Given the description of an element on the screen output the (x, y) to click on. 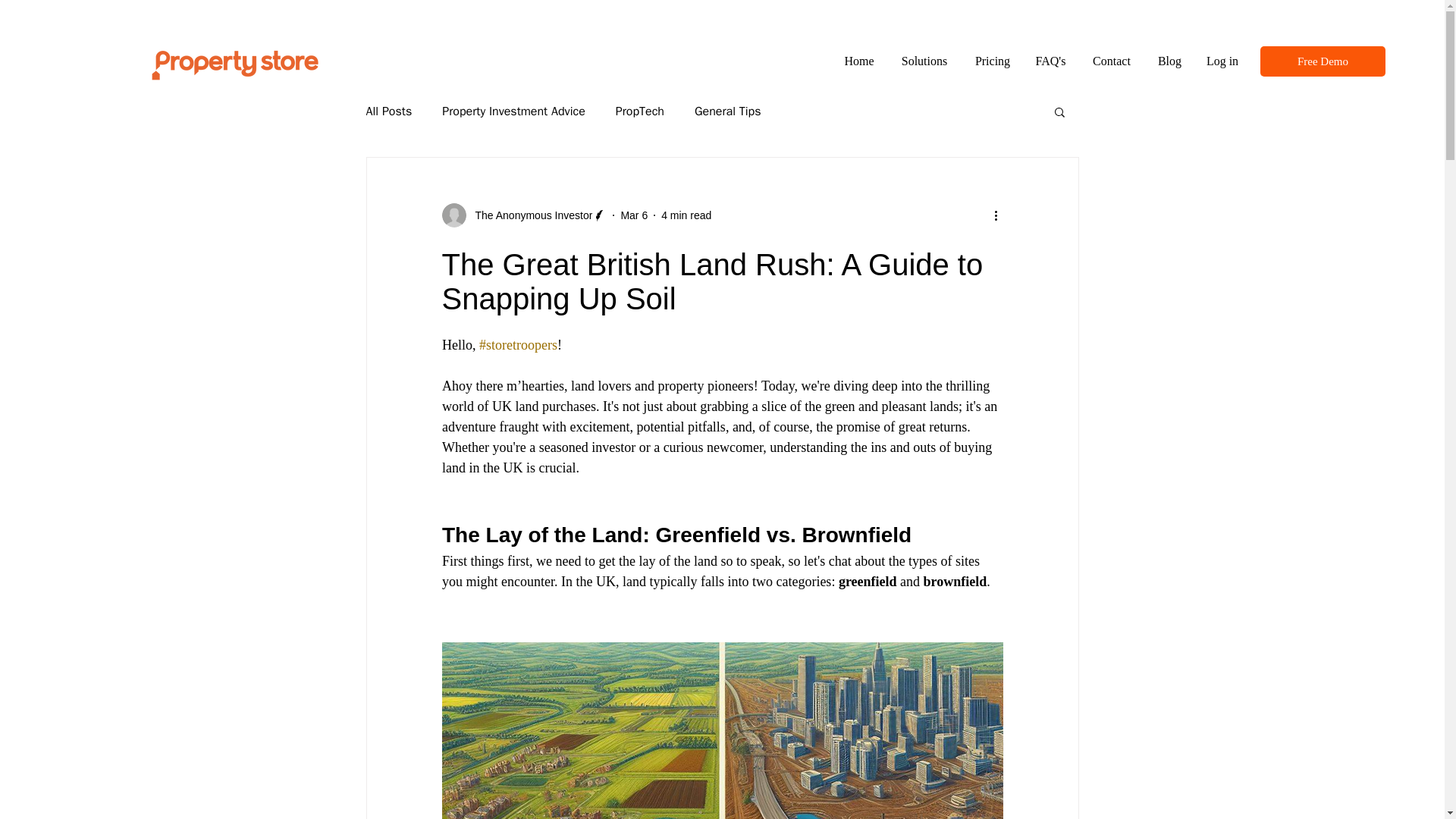
Blog (1169, 61)
All Posts (388, 110)
Mar 6 (633, 215)
Pricing (991, 61)
General Tips (727, 110)
Free Demo (1323, 60)
FAQ's (1050, 61)
4 min read (686, 215)
PropTech (639, 110)
Log in (1221, 61)
The Anonymous Investor (528, 215)
Home (858, 61)
Property Investment Advice (513, 110)
The Anonymous Investor (524, 215)
